Given the description of an element on the screen output the (x, y) to click on. 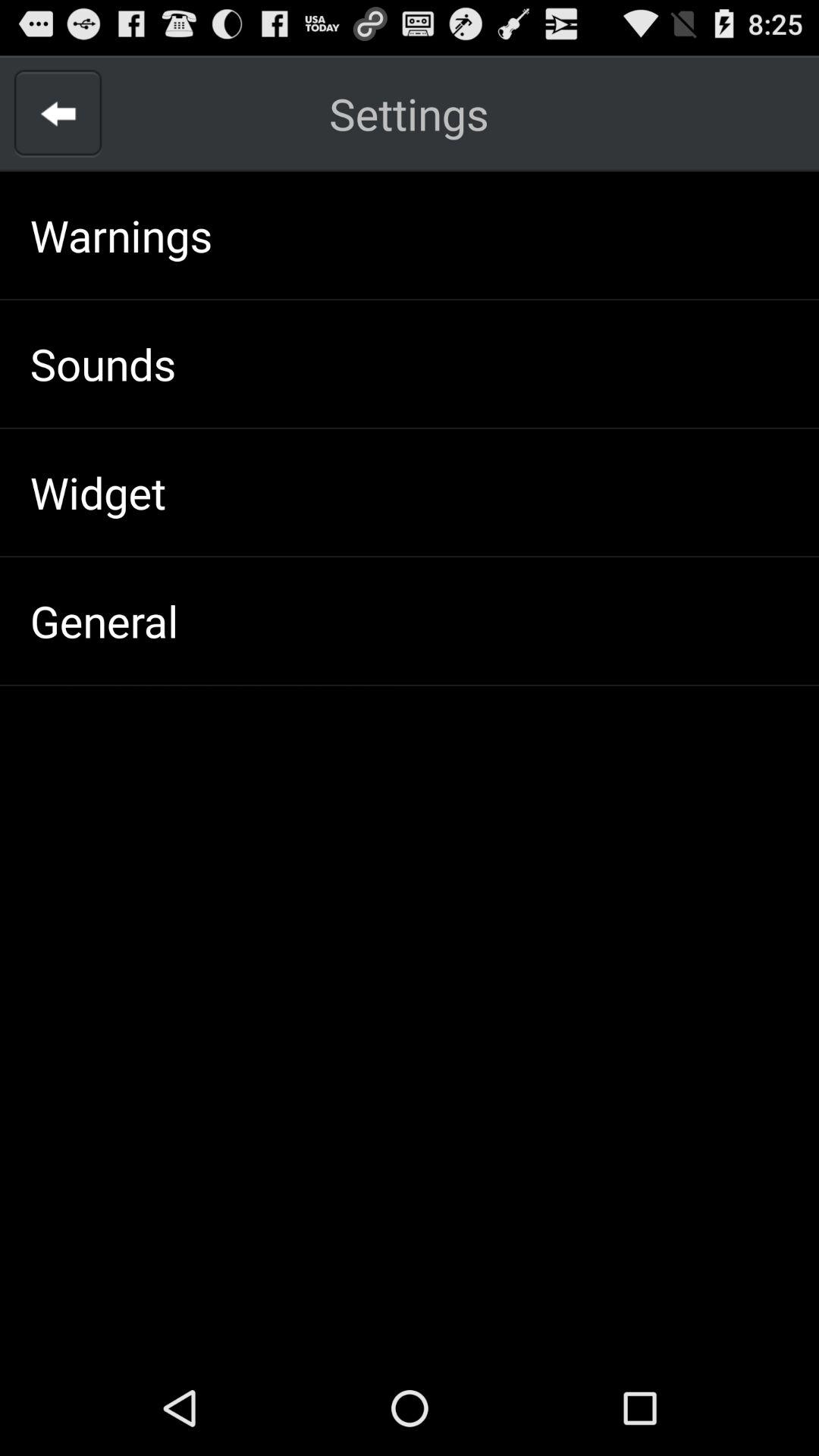
select the warnings item (121, 234)
